Given the description of an element on the screen output the (x, y) to click on. 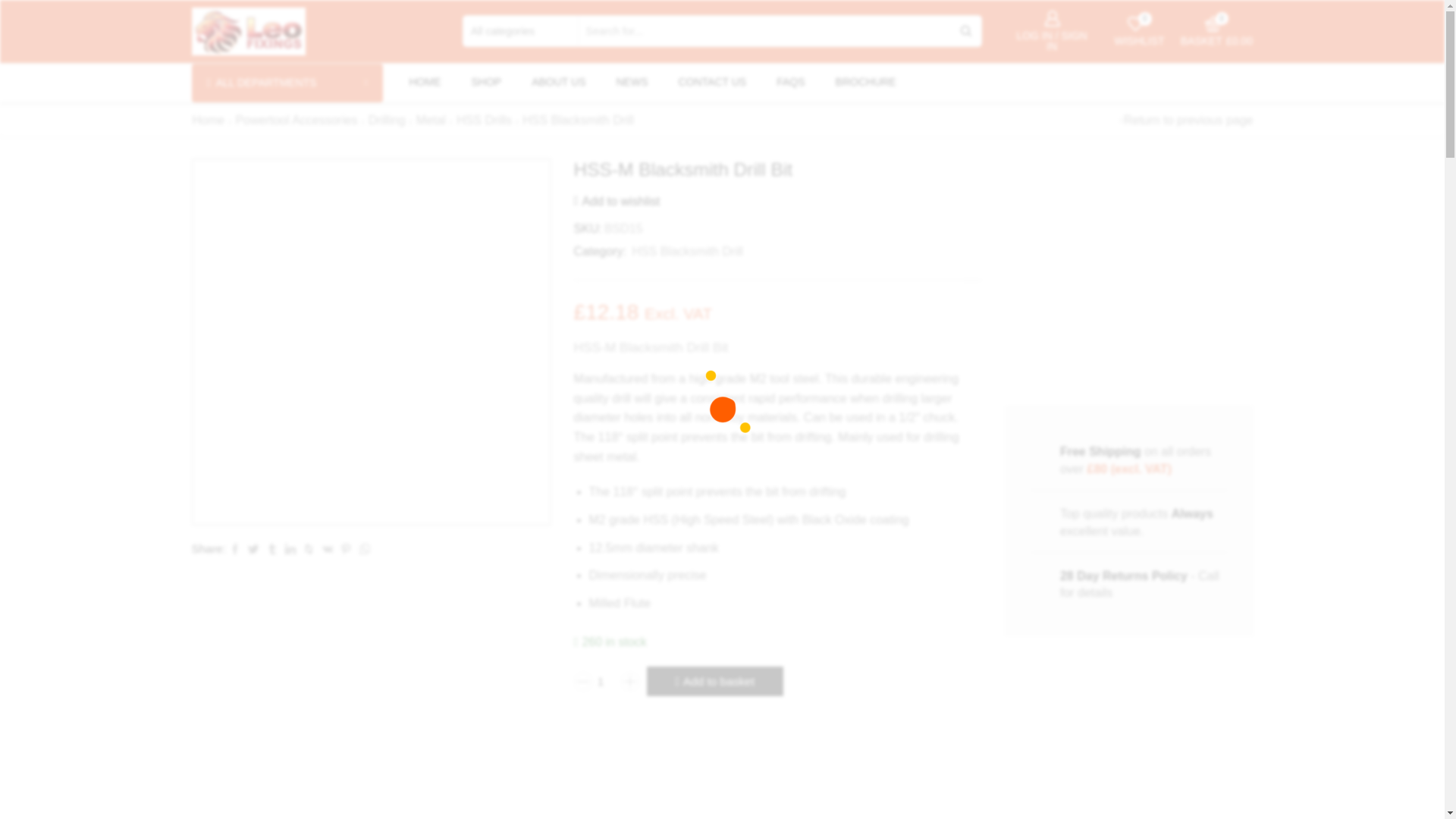
NEWS (630, 82)
BROCHURE (866, 82)
ABOUT US (557, 82)
CONTACT US (711, 82)
FAQS (1138, 30)
Log in (790, 82)
1 (972, 289)
HOME (606, 681)
SHOP (425, 82)
